Given the description of an element on the screen output the (x, y) to click on. 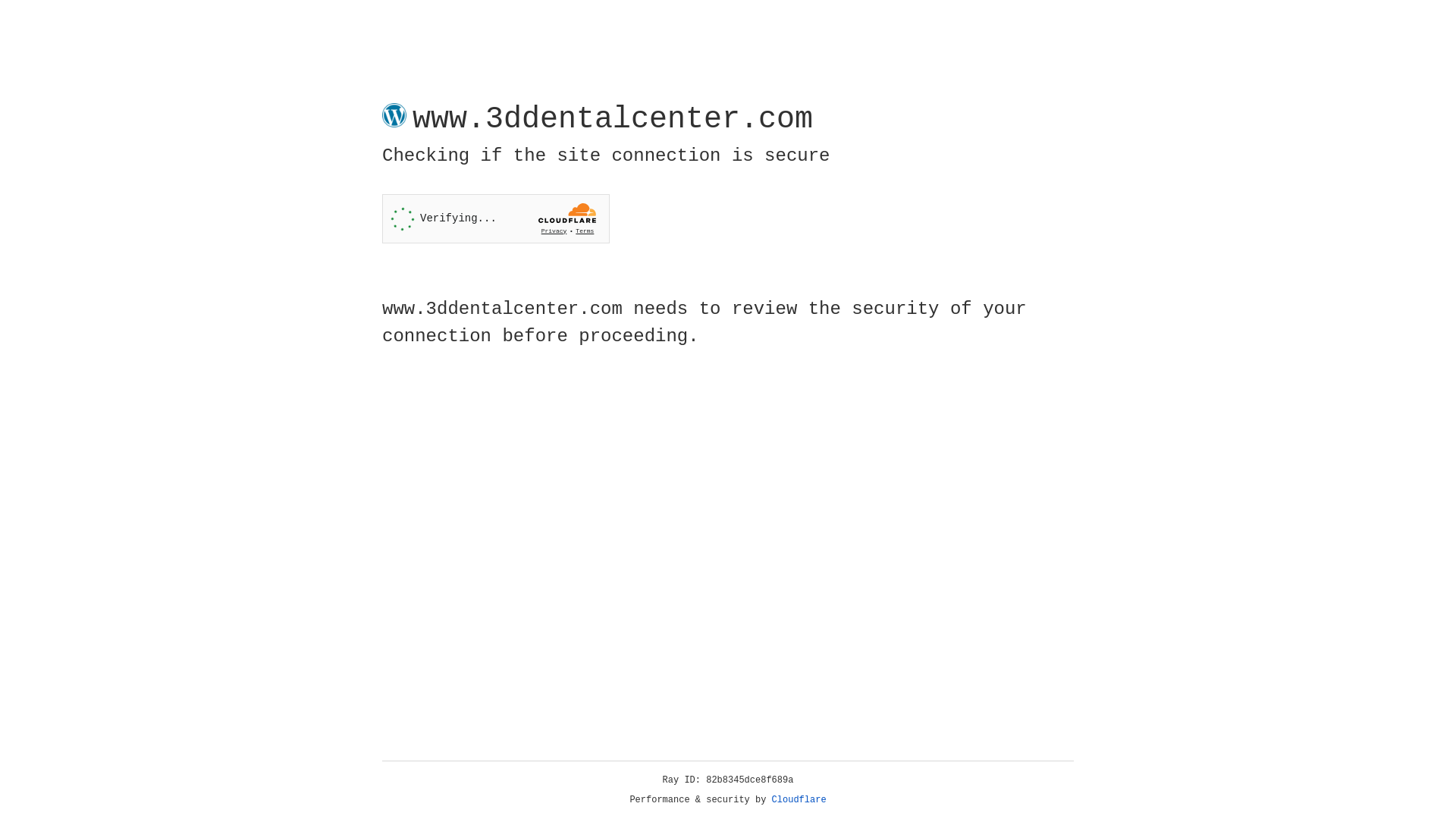
Cloudflare Element type: text (798, 799)
Widget containing a Cloudflare security challenge Element type: hover (495, 218)
